Given the description of an element on the screen output the (x, y) to click on. 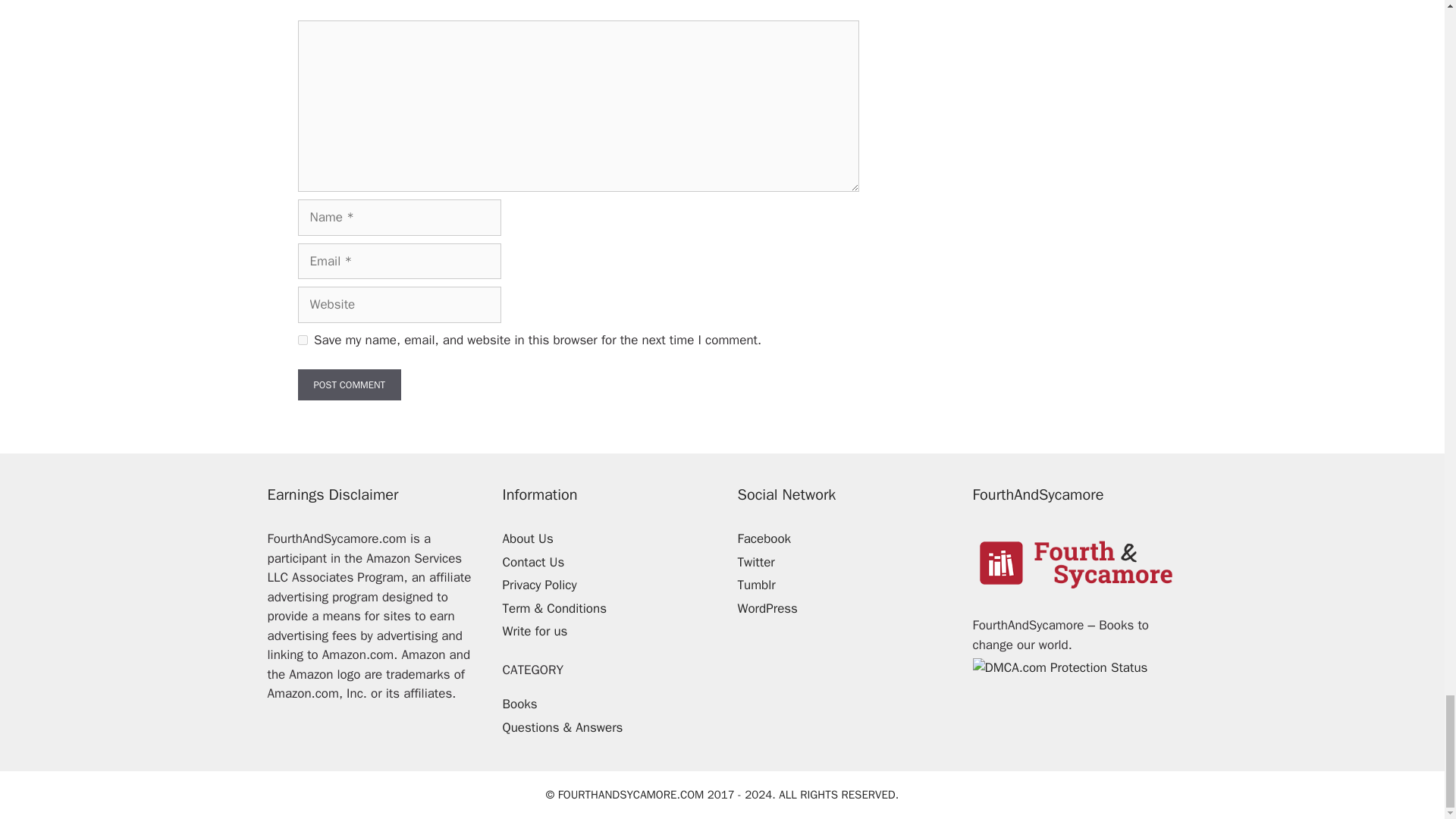
yes (302, 339)
Post Comment (349, 385)
DMCA.com Protection Status (1059, 667)
